Given the description of an element on the screen output the (x, y) to click on. 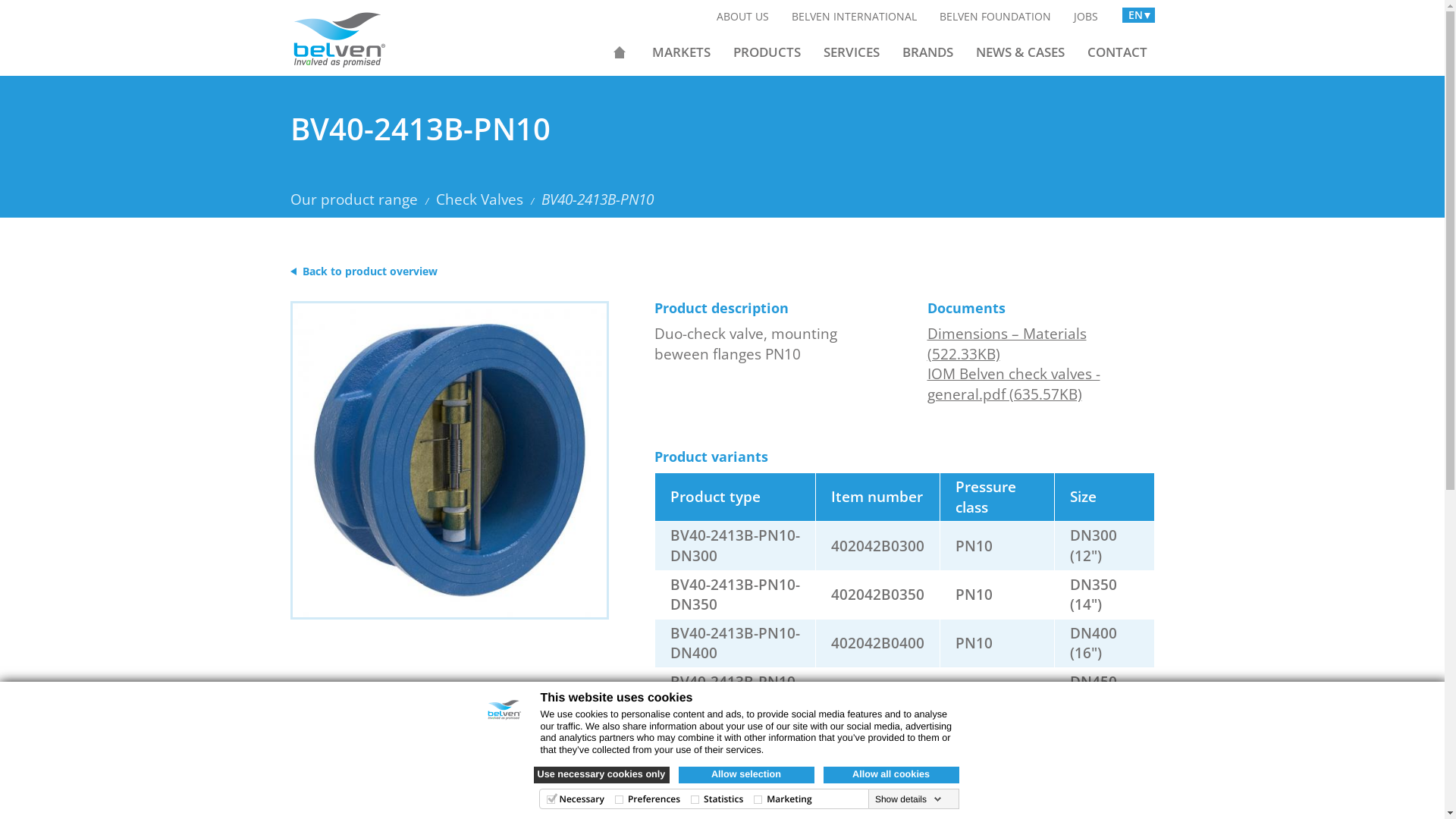
Our product range Element type: text (353, 199)
ABOUT US Element type: text (742, 16)
CONTACT Element type: text (1116, 51)
MARKETS Element type: text (681, 51)
JOBS Element type: text (1084, 16)
BELVEN INTERNATIONAL Element type: text (853, 16)
Allow all cookies Element type: text (891, 774)
Allow selection Element type: text (745, 774)
HOME Element type: text (619, 51)
Back to product overview Element type: text (362, 271)
IOM Belven check valves - general.pdf (635.57KB) Element type: text (1012, 384)
Home Element type: hover (343, 31)
Show details Element type: text (908, 799)
EN Element type: text (1138, 14)
Check Valves Element type: text (478, 199)
PRODUCTS Element type: text (765, 51)
NEWS & CASES Element type: text (1019, 51)
BRANDS Element type: text (927, 51)
Use necessary cookies only Element type: text (601, 774)
Skip to main content Element type: text (0, 0)
BELVEN FOUNDATION Element type: text (995, 16)
SERVICES Element type: text (851, 51)
